Given the description of an element on the screen output the (x, y) to click on. 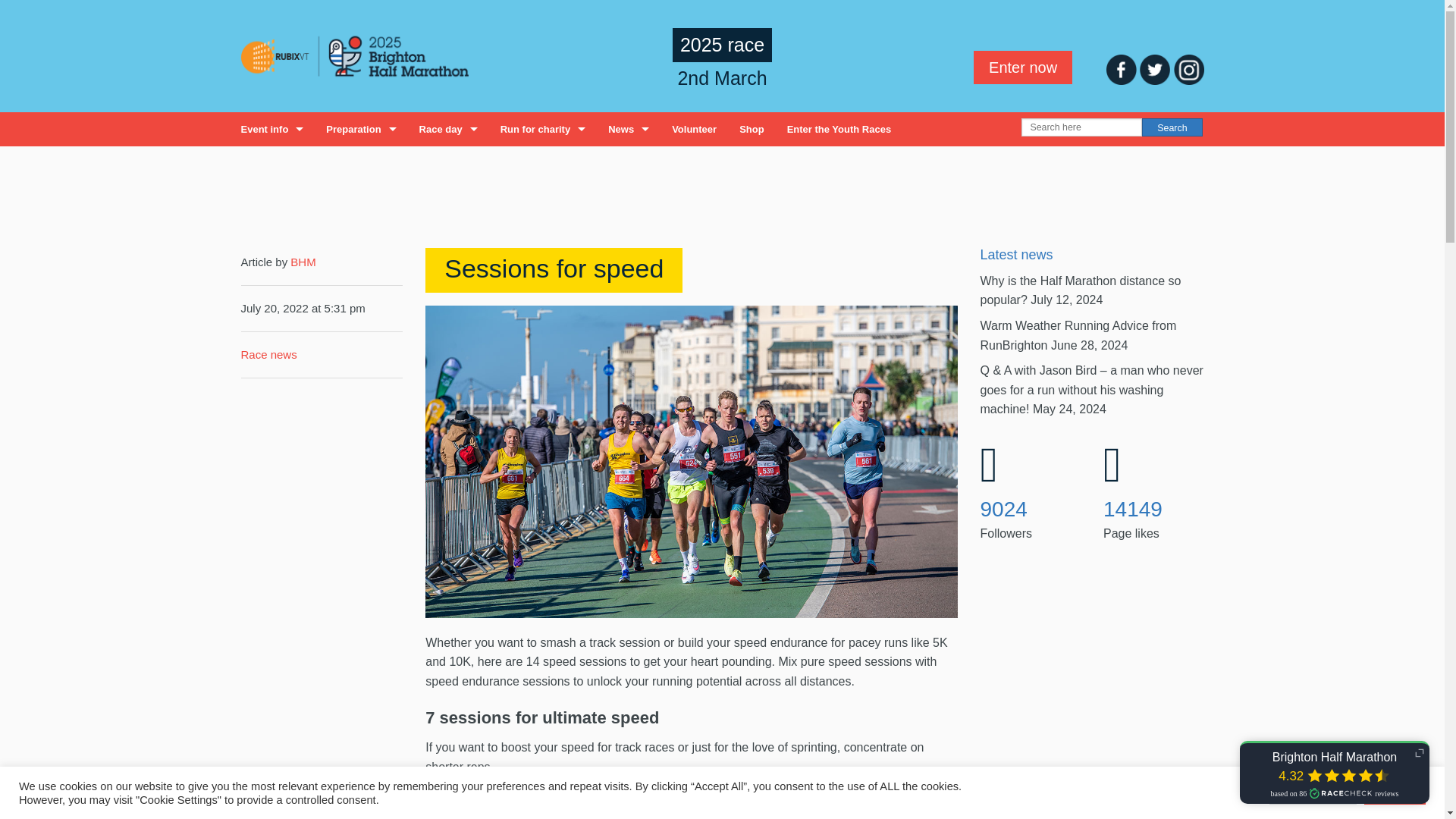
Run for charity (542, 129)
BrightonHalfMarathon (1132, 508)
Event info (271, 129)
Search (1171, 127)
Enter now (1022, 67)
brightonhalf (1002, 508)
Race day (448, 129)
Preparation (360, 129)
Posts by BHM (302, 261)
